Given the description of an element on the screen output the (x, y) to click on. 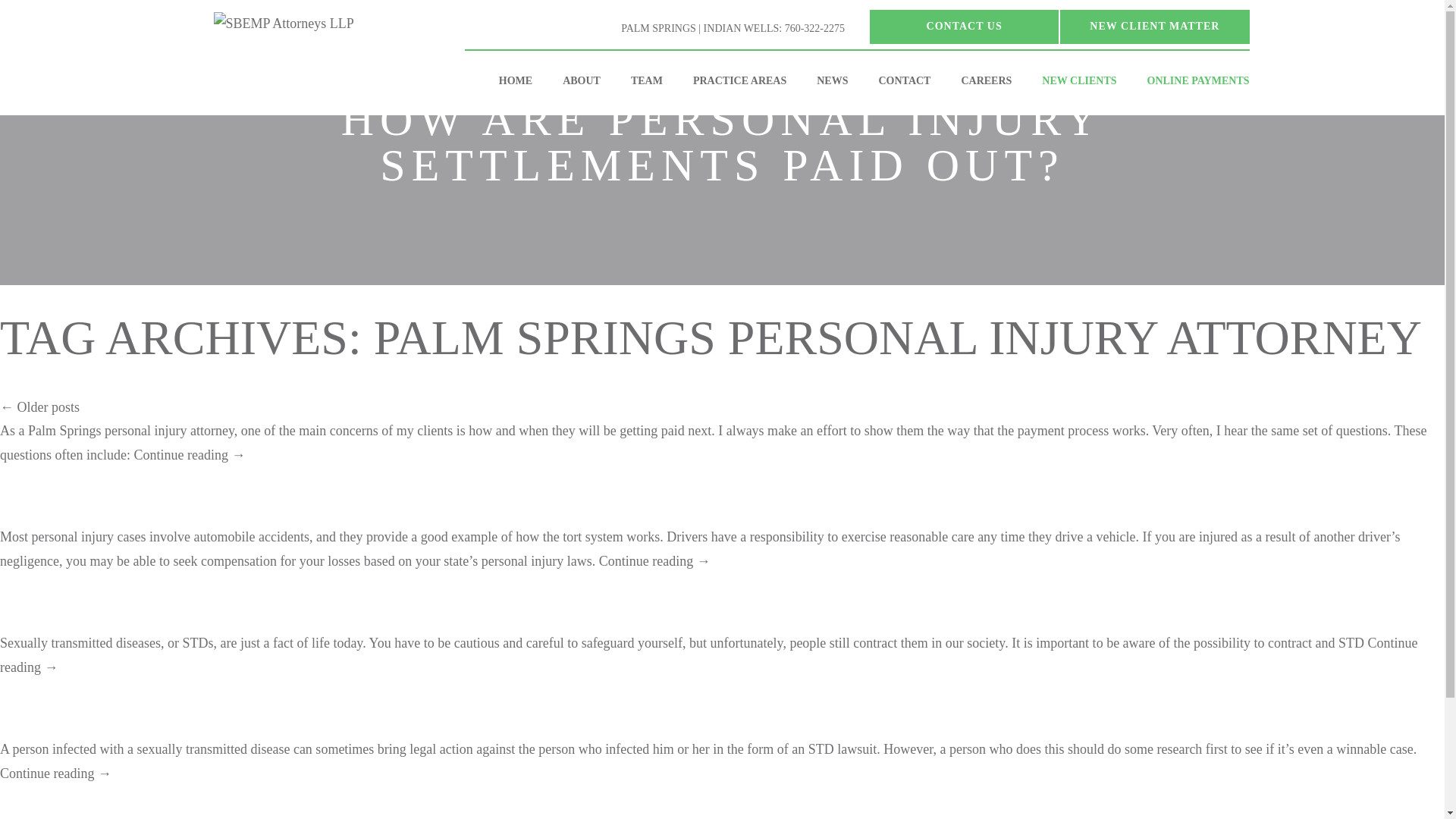
CONTACT US (963, 26)
TEAM (646, 80)
ABOUT (581, 80)
HOME (515, 80)
NEWS (832, 80)
PRACTICE AREAS (740, 80)
NEW CLIENT MATTER (1154, 26)
CONTACT (903, 80)
